Given the description of an element on the screen output the (x, y) to click on. 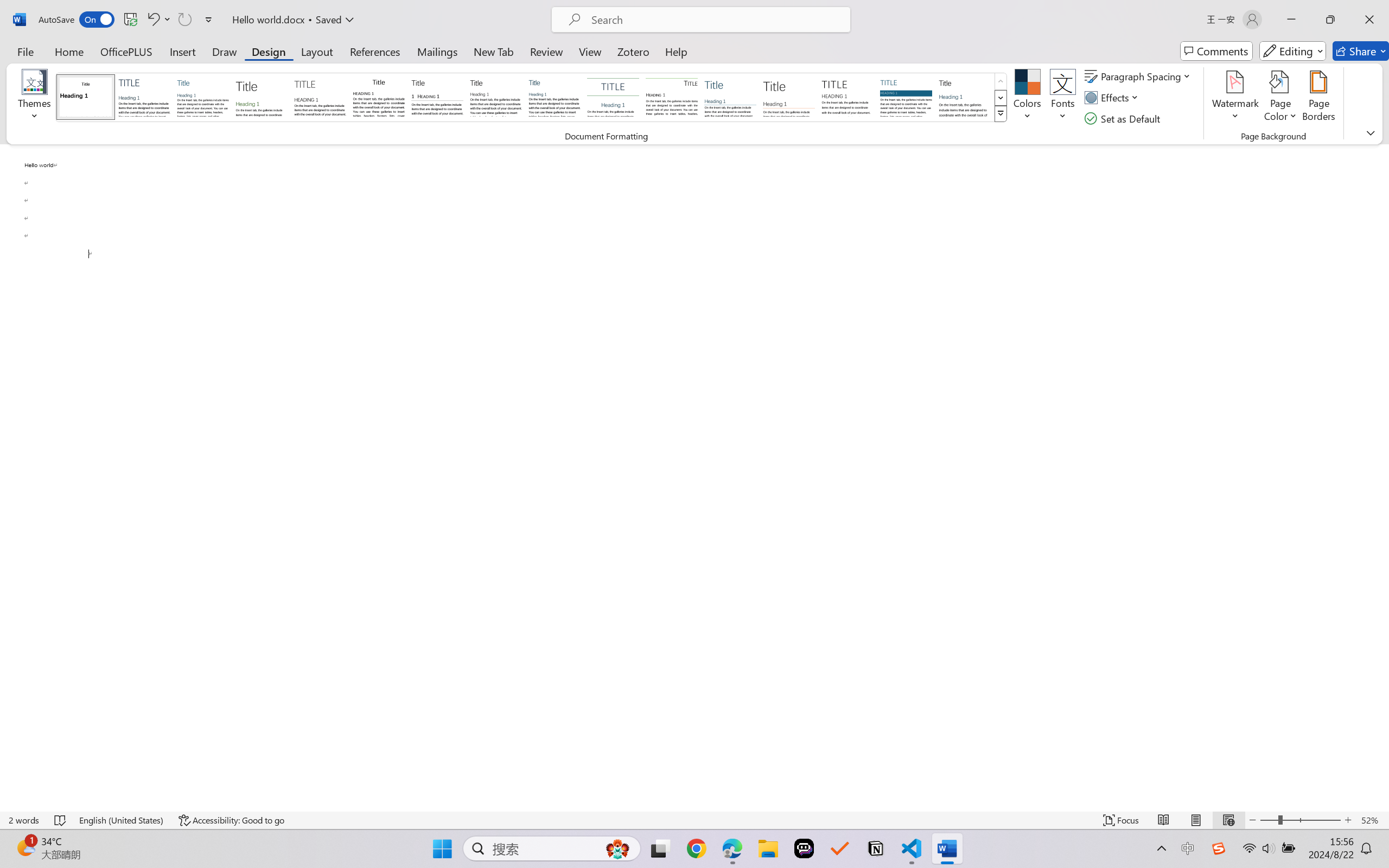
Insert (182, 51)
Word (964, 96)
Class: Image (1218, 847)
Basic (Elegant) (144, 96)
Paragraph Spacing (1139, 75)
Draw (224, 51)
Microsoft search (715, 19)
Minimalist (847, 96)
AutomationID: QuickStylesSets (531, 97)
